Given the description of an element on the screen output the (x, y) to click on. 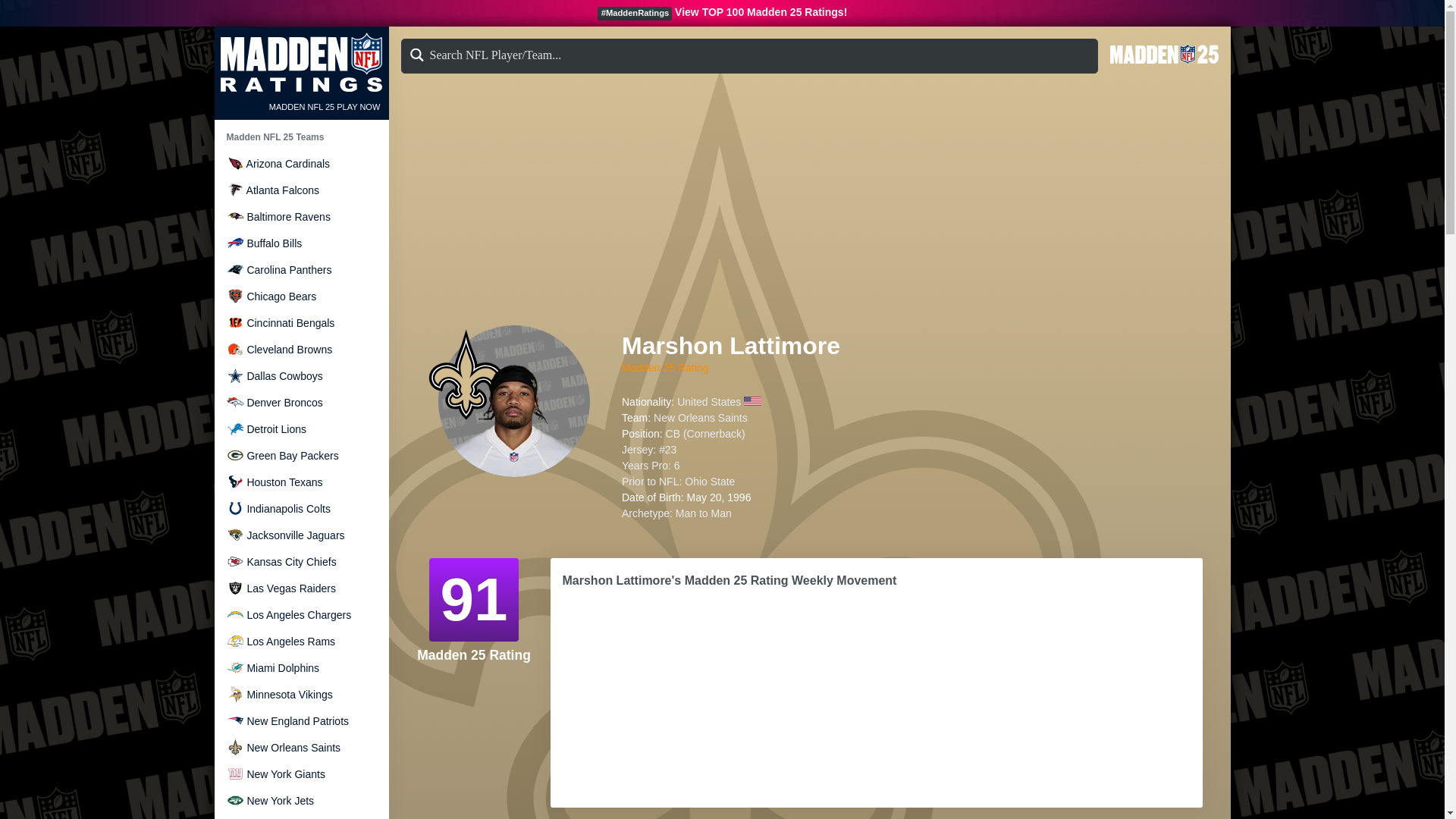
New York Giants (300, 774)
Detroit Lions (234, 428)
Kansas City Chiefs (300, 562)
Minnesota Vikings (300, 695)
Buffalo Bills (234, 242)
View TOP 100 Madden 25 Ratings! (761, 11)
Green Bay Packers (300, 456)
Indianapolis Colts (300, 509)
Arizona Cardinals (234, 162)
Baltimore Ravens (234, 216)
Cincinnati Bengals (234, 322)
Carolina Panthers (300, 271)
Las Vegas Raiders (300, 589)
Chicago Bears (300, 297)
New York Jets (300, 801)
